Given the description of an element on the screen output the (x, y) to click on. 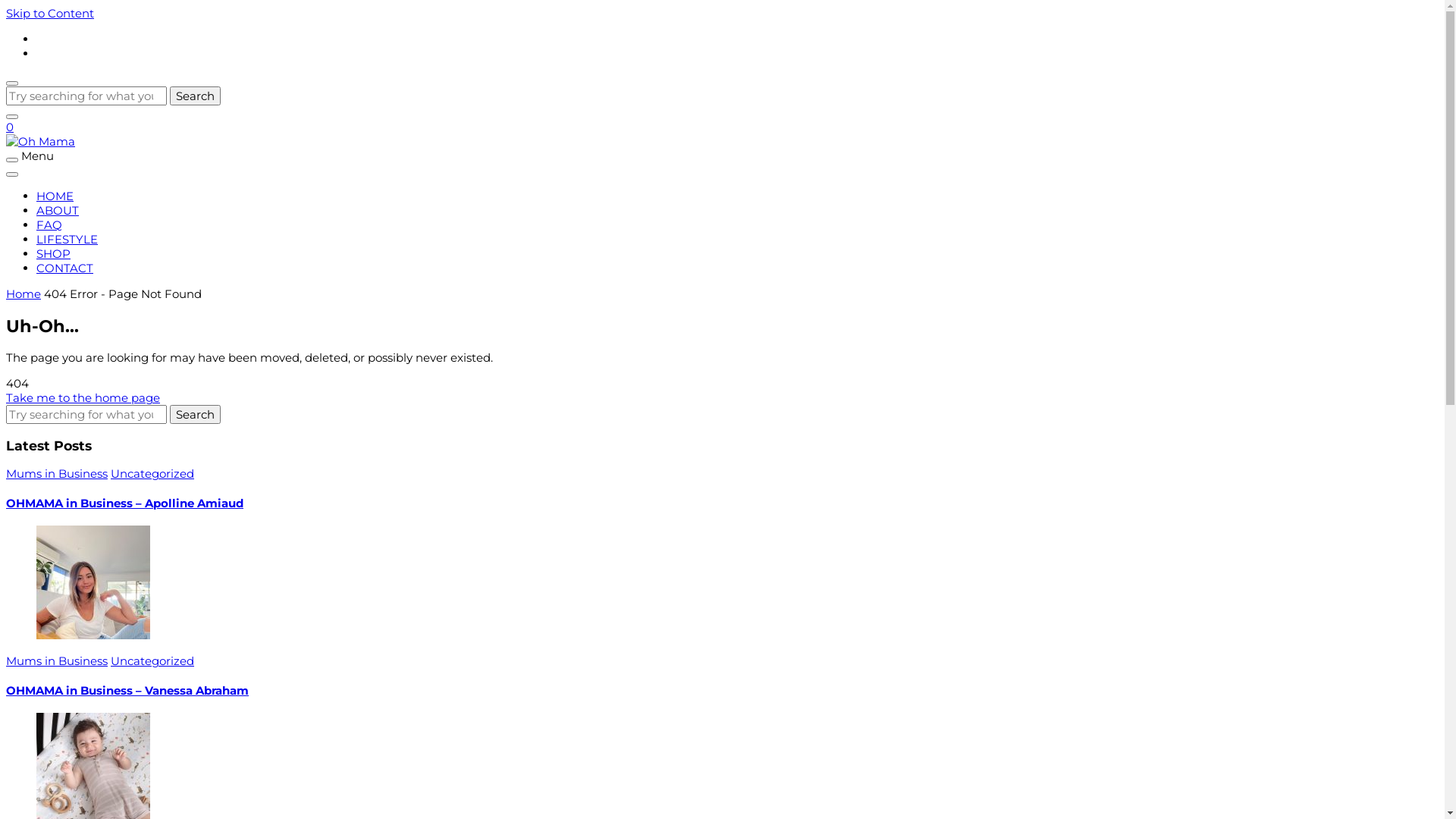
FAQ Element type: text (49, 224)
Uncategorized Element type: text (152, 473)
Home Element type: text (23, 293)
Take me to the home page Element type: text (83, 397)
CONTACT Element type: text (64, 267)
SHOP Element type: text (53, 253)
ABOUT Element type: text (57, 210)
Uncategorized Element type: text (152, 660)
Search Element type: text (194, 95)
Mums in Business Element type: text (56, 660)
Search Element type: text (194, 413)
LIFESTYLE Element type: text (66, 239)
Mums in Business Element type: text (56, 473)
Oh Mama Element type: text (50, 185)
Skip to Content Element type: text (50, 13)
HOME Element type: text (54, 195)
0 Element type: text (9, 126)
